Given the description of an element on the screen output the (x, y) to click on. 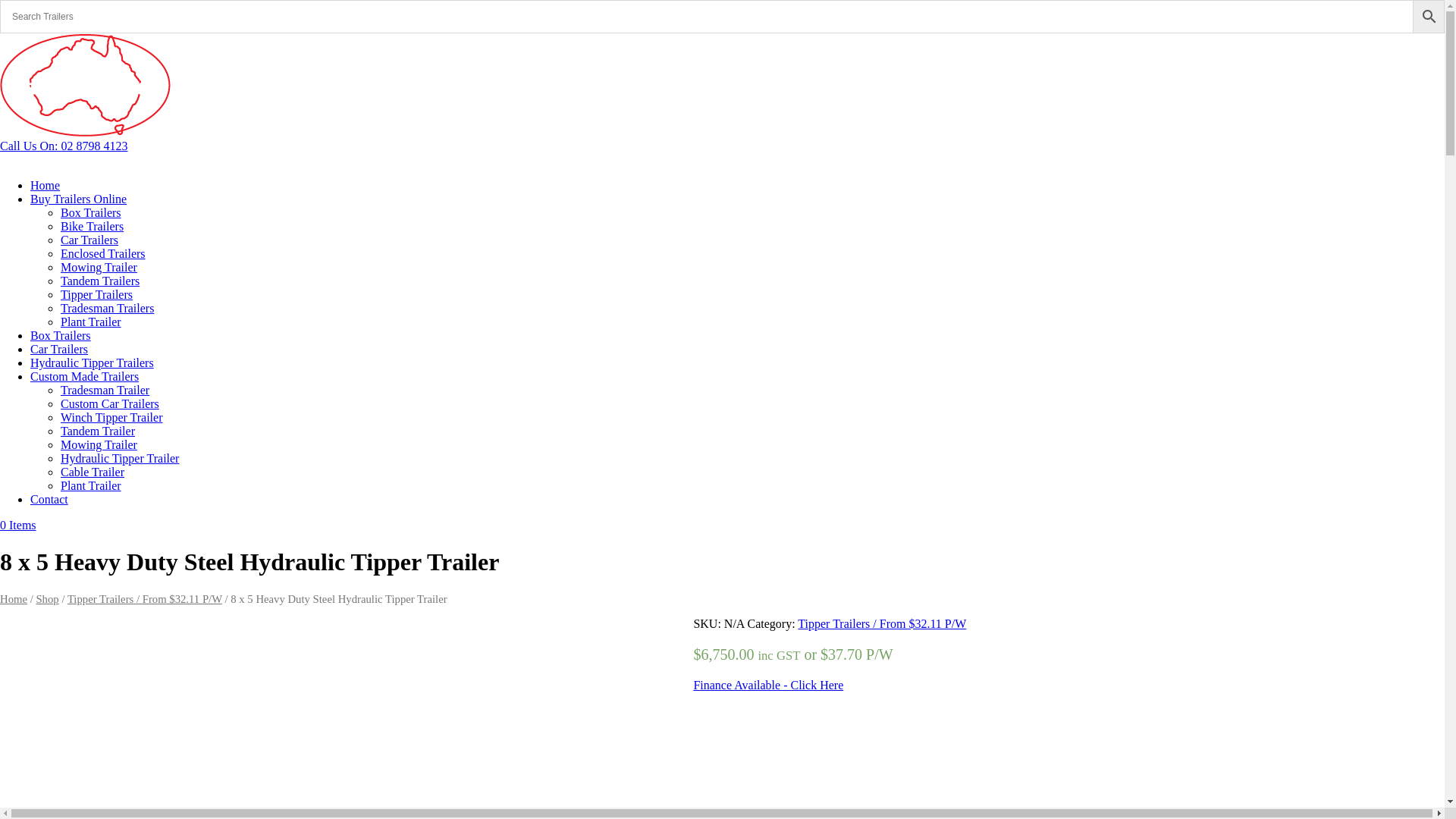
Shop Element type: text (46, 599)
Enclosed Trailers Element type: text (102, 253)
Bike Trailers Element type: text (91, 225)
Contact Element type: text (49, 498)
Plant Trailer Element type: text (90, 485)
Tipper Trailers / From $32.11 P/W Element type: text (881, 623)
Finance Available - Click Here Element type: text (768, 684)
Tipper Trailers Element type: text (96, 294)
Tandem Trailer Element type: text (97, 430)
Custom Made Trailers Element type: text (84, 376)
Cable Trailer Element type: text (92, 471)
0 Items Element type: text (18, 524)
Home Element type: text (44, 184)
Hydraulic Tipper Trailer Element type: text (119, 457)
Tradesman Trailers Element type: text (106, 307)
Car Trailers Element type: text (58, 348)
Tandem Trailers Element type: text (99, 280)
Tipper Trailers / From $32.11 P/W Element type: text (144, 599)
Hydraulic Tipper Trailers Element type: text (91, 362)
Box Trailers Element type: text (60, 335)
nt-web-logo2 Element type: hover (85, 84)
Mowing Trailer Element type: text (98, 266)
Winch Tipper Trailer Element type: text (111, 417)
Car Trailers Element type: text (89, 239)
Tradesman Trailer Element type: text (104, 389)
Custom Car Trailers Element type: text (109, 403)
Box Trailers Element type: text (90, 212)
Buy Trailers Online Element type: text (78, 198)
Mowing Trailer Element type: text (98, 444)
Call Us On: 02 8798 4123 Element type: text (63, 145)
Plant Trailer Element type: text (90, 321)
Home Element type: text (13, 599)
